Given the description of an element on the screen output the (x, y) to click on. 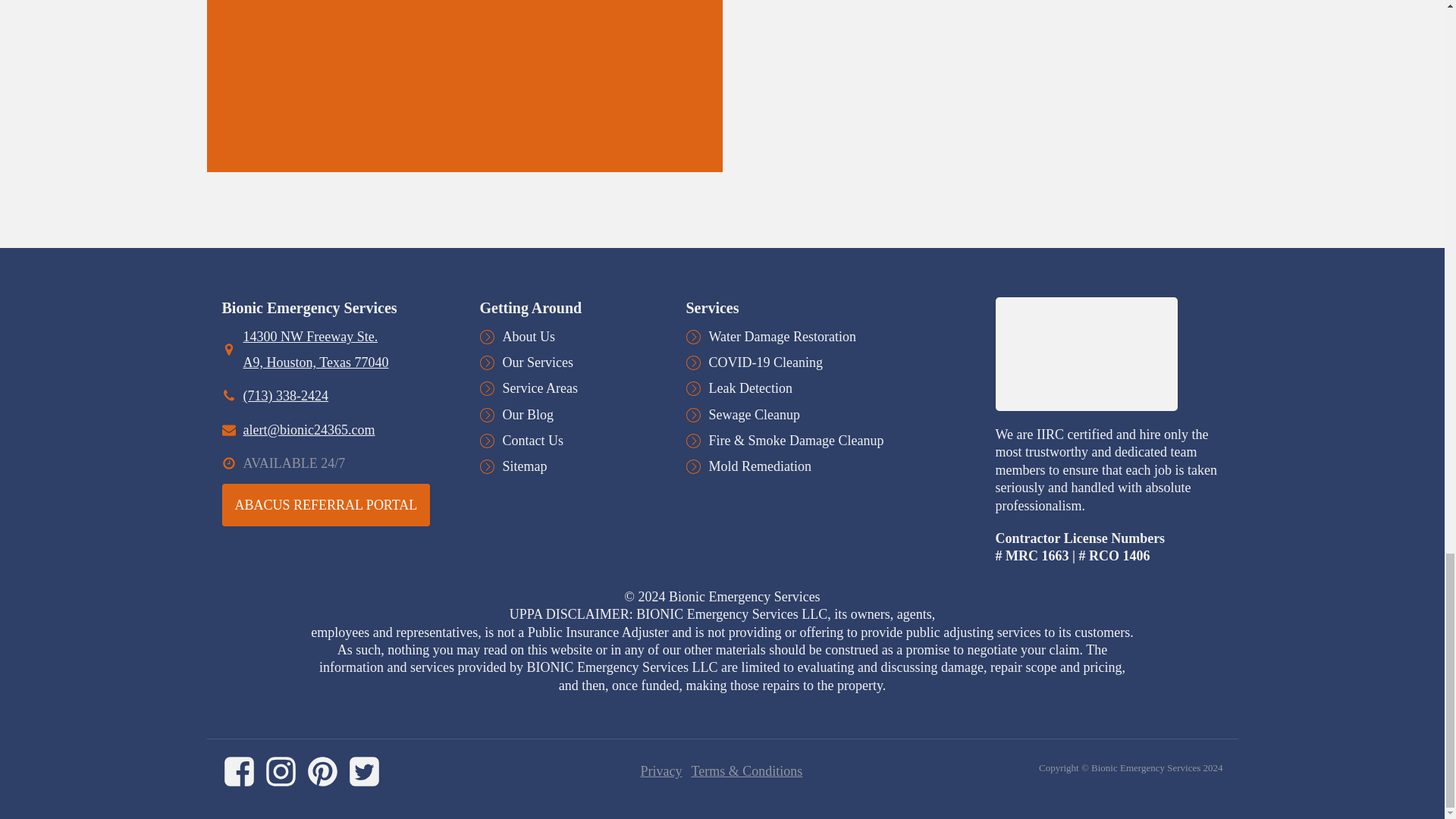
Our Services (537, 362)
Contact Us (532, 440)
ABACUS REFERRAL PORTAL (325, 505)
Water Damage Restoration (781, 336)
Sewage Cleanup (753, 414)
Our Blog (527, 414)
Service Areas (539, 388)
Mold Remediation (758, 466)
Leak Detection (749, 388)
COVID-19 Cleaning (764, 362)
Current Lead Gen Form (463, 25)
14300 NW Freeway Ste. A9, Houston, Texas 77040 (345, 349)
Sitemap (524, 466)
About Us (528, 336)
